Given the description of an element on the screen output the (x, y) to click on. 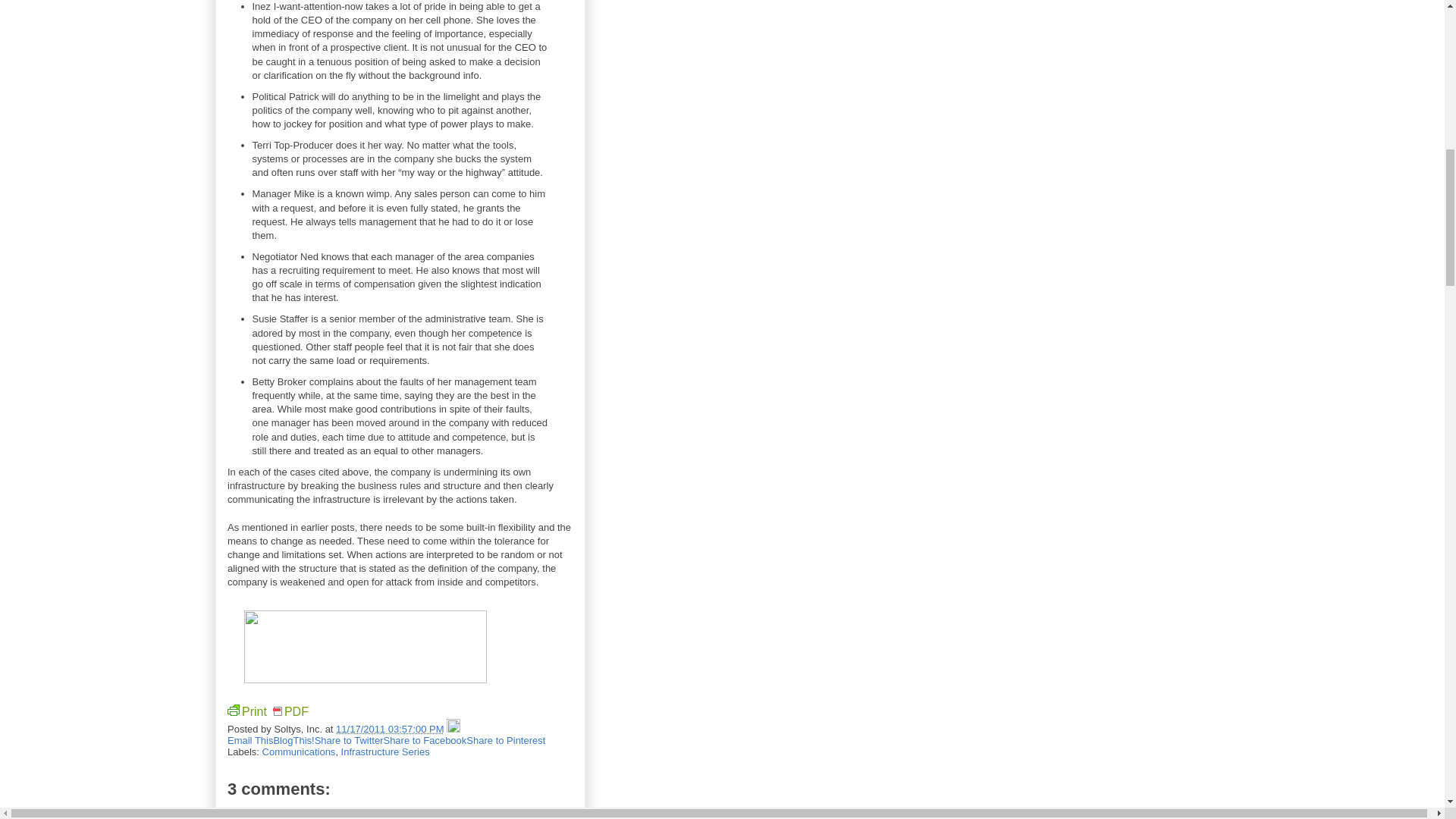
Share to Twitter (349, 740)
Email This (250, 740)
Share to Pinterest (504, 740)
Edit Post (453, 728)
Printer Friendly and PDF (270, 712)
Infrastructure Series (384, 751)
BlogThis! (293, 740)
Share to Pinterest (504, 740)
permanent link (390, 728)
Share to Facebook (423, 740)
Communications (299, 751)
Share to Facebook (423, 740)
Share to Twitter (349, 740)
Email This (250, 740)
BlogThis! (293, 740)
